Given the description of an element on the screen output the (x, y) to click on. 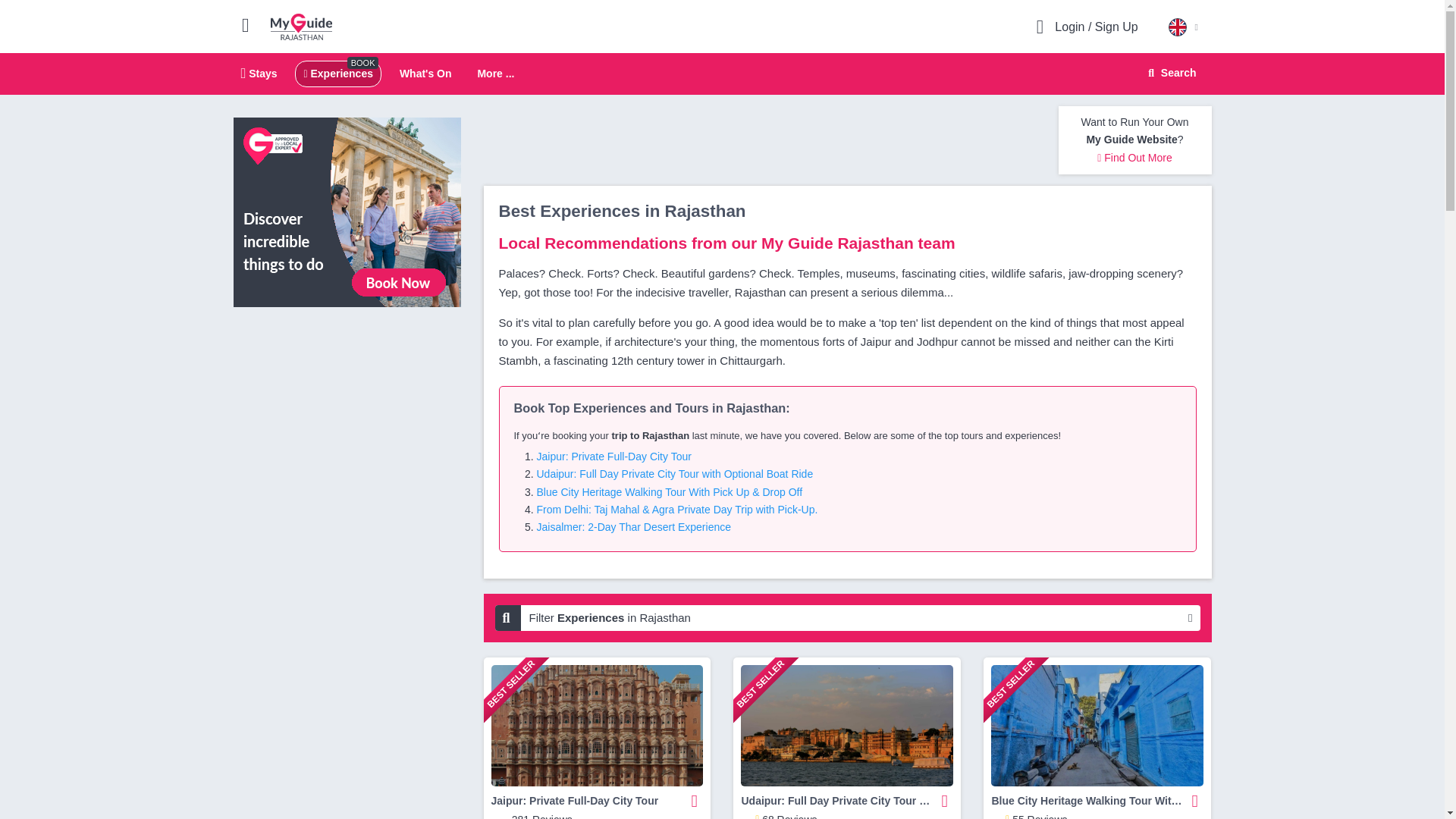
Search (1169, 72)
Search Website (721, 74)
More ... (1170, 73)
My Guide Rajasthan (495, 73)
What's On (300, 25)
Experiences (424, 73)
Stays (337, 73)
